Given the description of an element on the screen output the (x, y) to click on. 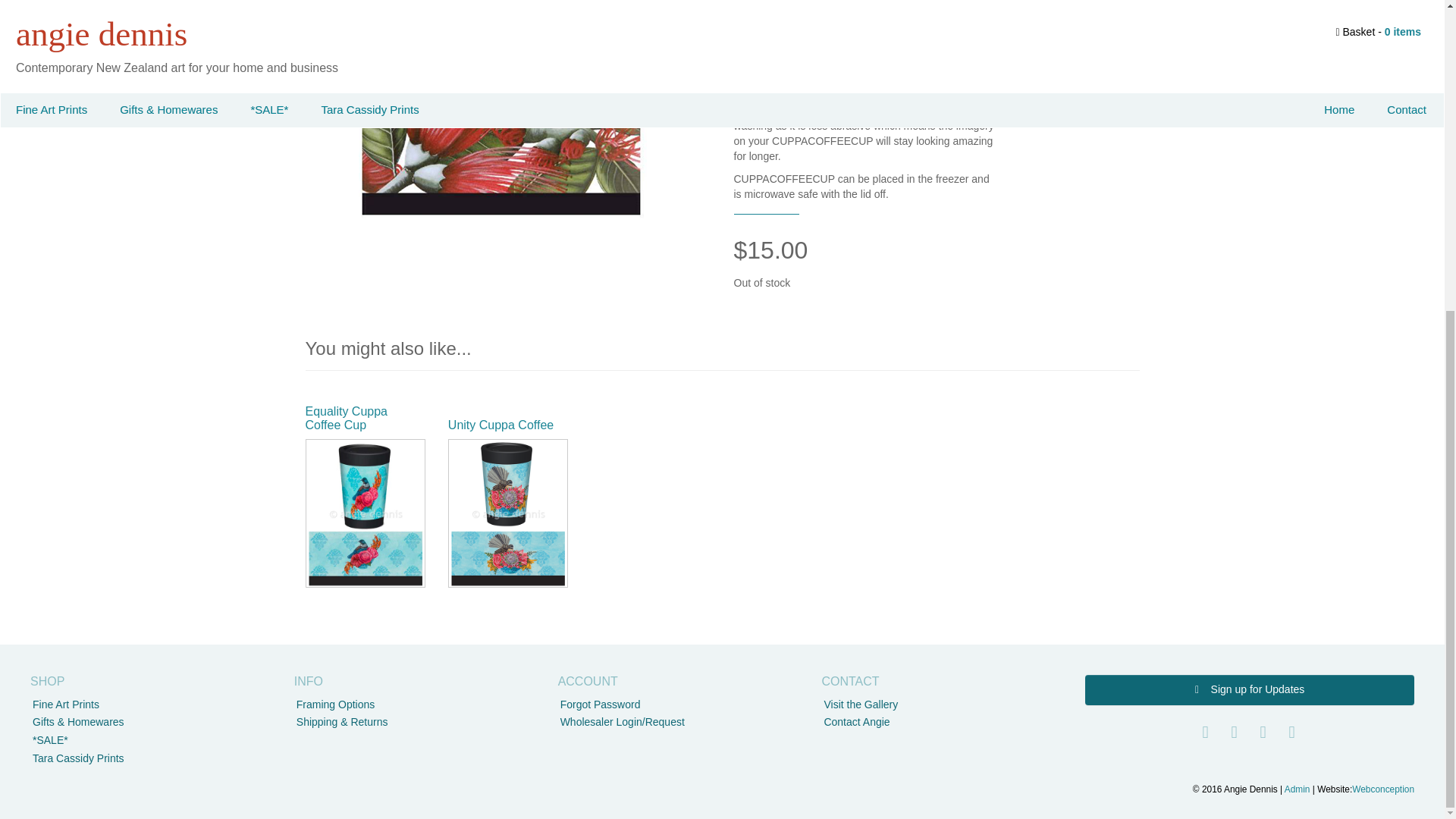
Forgot Password (600, 704)
Framing Options (335, 704)
Visit the Gallery (861, 704)
Equality Cuppa Coffee Cup (345, 417)
Unity Cuppa Coffee (500, 431)
Contact Angie (856, 721)
Tara Cassidy Prints (77, 758)
Webconception (1382, 788)
Fine Art Prints (65, 704)
Admin (1297, 788)
   Sign up for Updates (1248, 689)
